Given the description of an element on the screen output the (x, y) to click on. 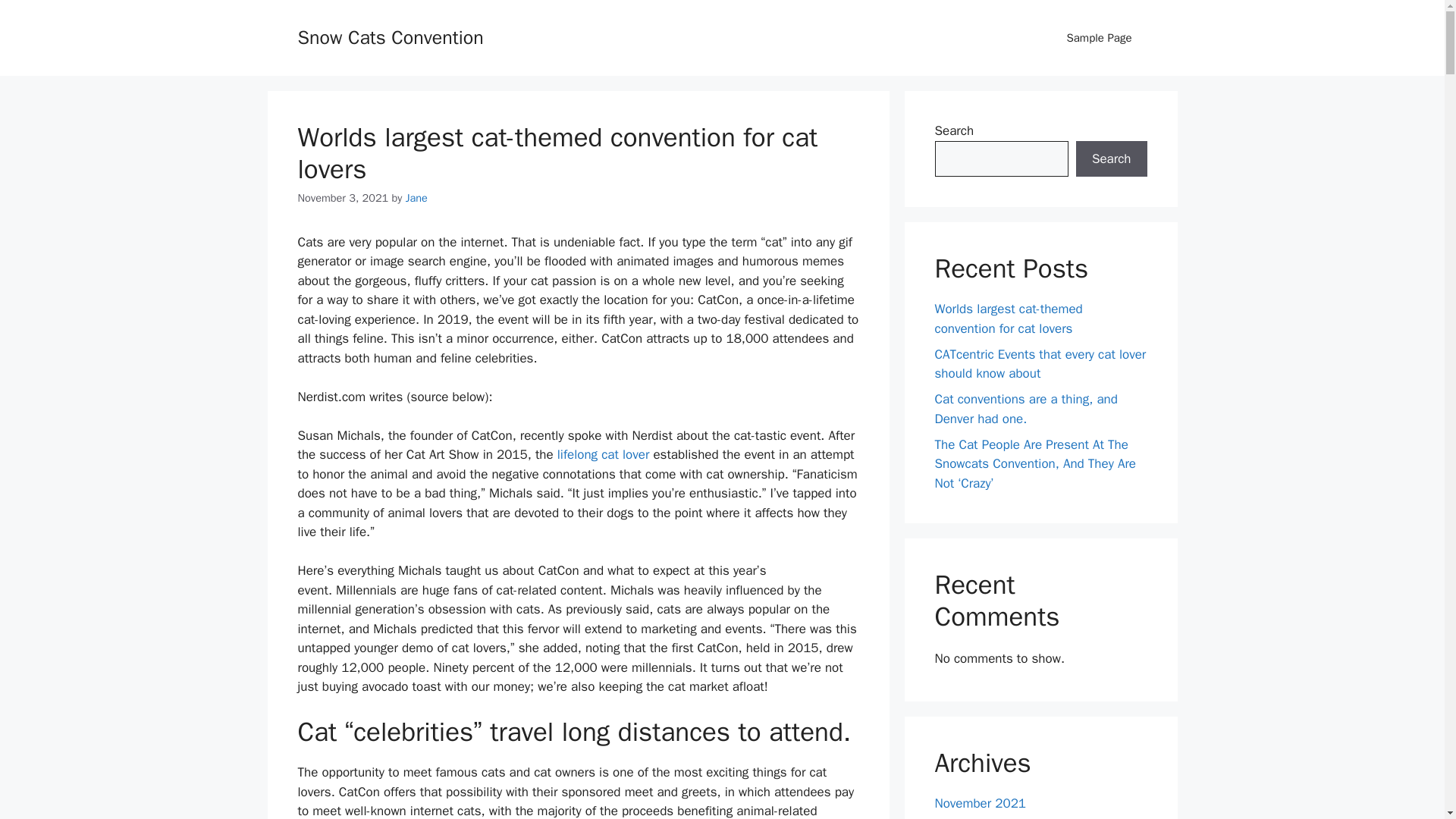
lifelong cat lover (603, 454)
Sample Page (1099, 37)
Snow Cats Convention (390, 37)
Worlds largest cat-themed convention for cat lovers (556, 152)
View all posts by Jane (417, 197)
Jane (417, 197)
